Given the description of an element on the screen output the (x, y) to click on. 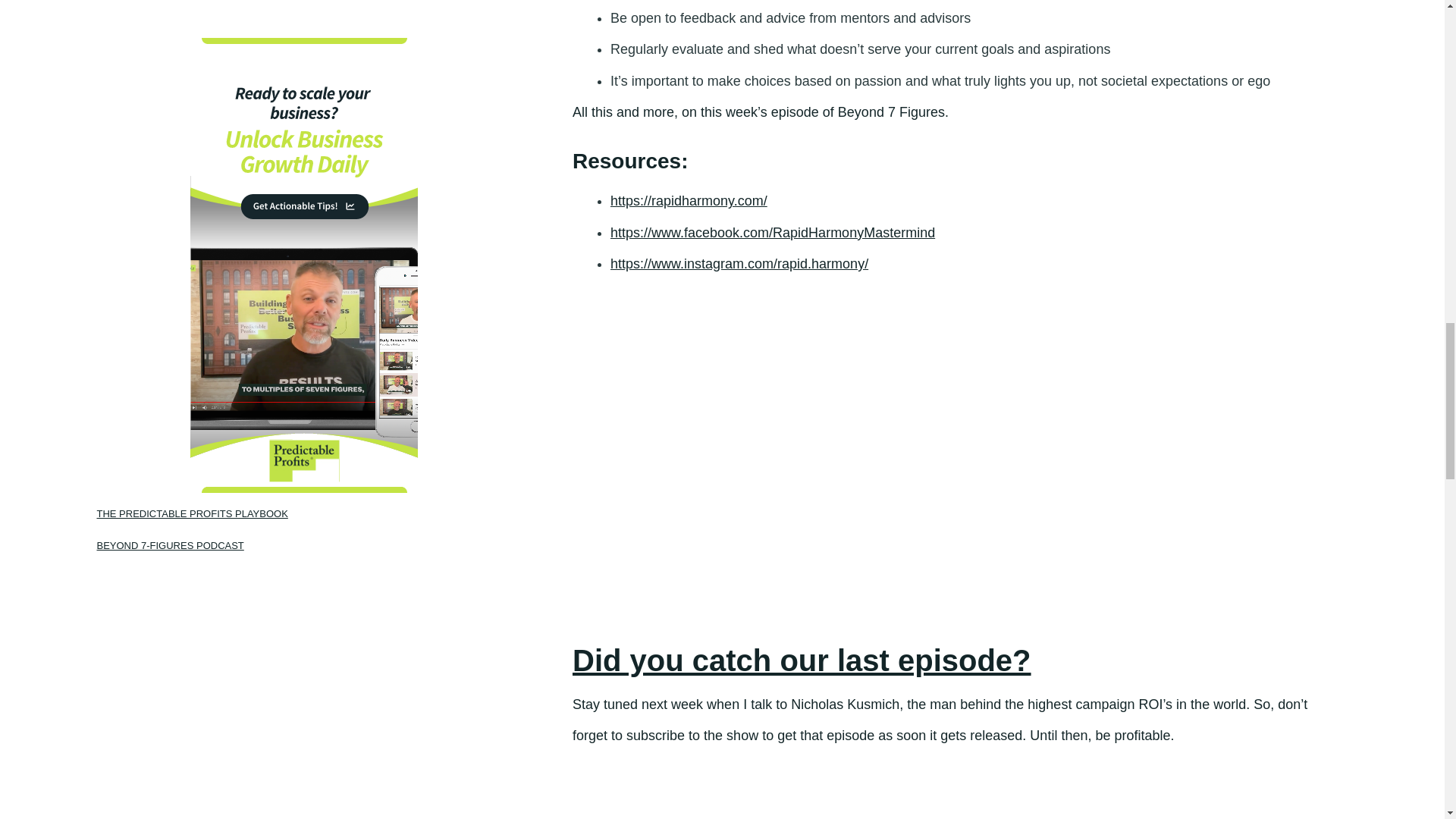
Did you catch our last episode? (801, 660)
